Given the description of an element on the screen output the (x, y) to click on. 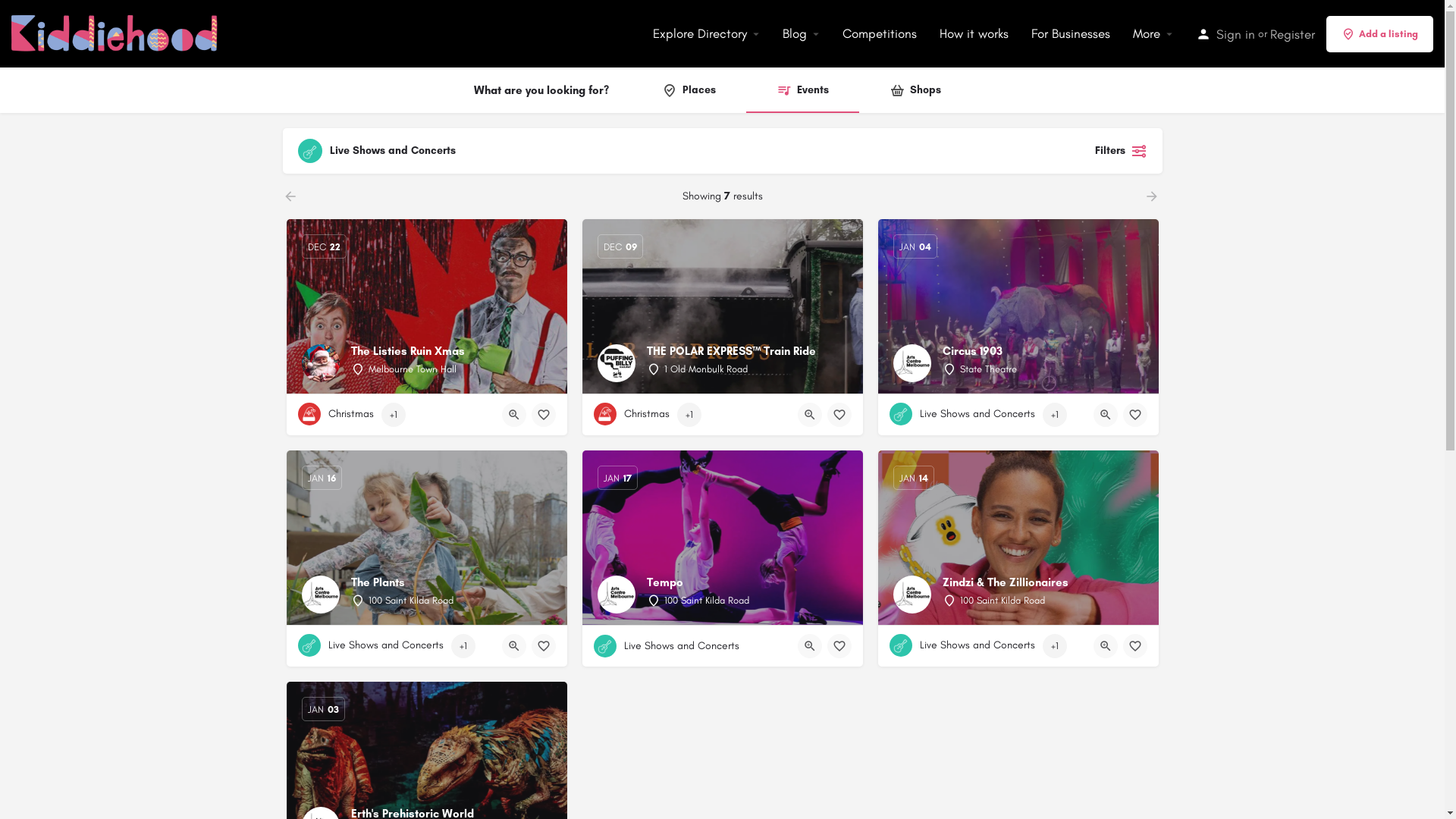
Shops Element type: text (914, 89)
Filters Element type: text (1117, 150)
Live Shows and Concerts Element type: text (369, 644)
Events Element type: text (802, 89)
Zindzi & The Zillionaires
100 Saint Kilda Road
JAN
14 Element type: text (1018, 537)
Live Shows and Concerts Element type: text (961, 413)
Christmas Element type: text (335, 413)
Live Shows and Concerts Element type: text (961, 644)
Explore Directory Element type: text (699, 33)
Blog Element type: text (794, 33)
Competitions Element type: text (879, 33)
Places Element type: text (687, 89)
The Plants
100 Saint Kilda Road
JAN
16 Element type: text (426, 537)
The Listies Ruin Xmas
Melbourne Town Hall
DEC
22 Element type: text (426, 306)
Circus 1903
State Theatre
JAN
04 Element type: text (1018, 306)
Live Shows and Concerts Element type: text (665, 645)
Christmas Element type: text (630, 413)
Sign in Element type: text (1235, 33)
How it works Element type: text (973, 33)
Register Element type: text (1292, 33)
Tempo
100 Saint Kilda Road
JAN
17 Element type: text (722, 537)
For Businesses Element type: text (1070, 33)
More Element type: text (1146, 33)
Add a listing Element type: text (1379, 33)
